Given the description of an element on the screen output the (x, y) to click on. 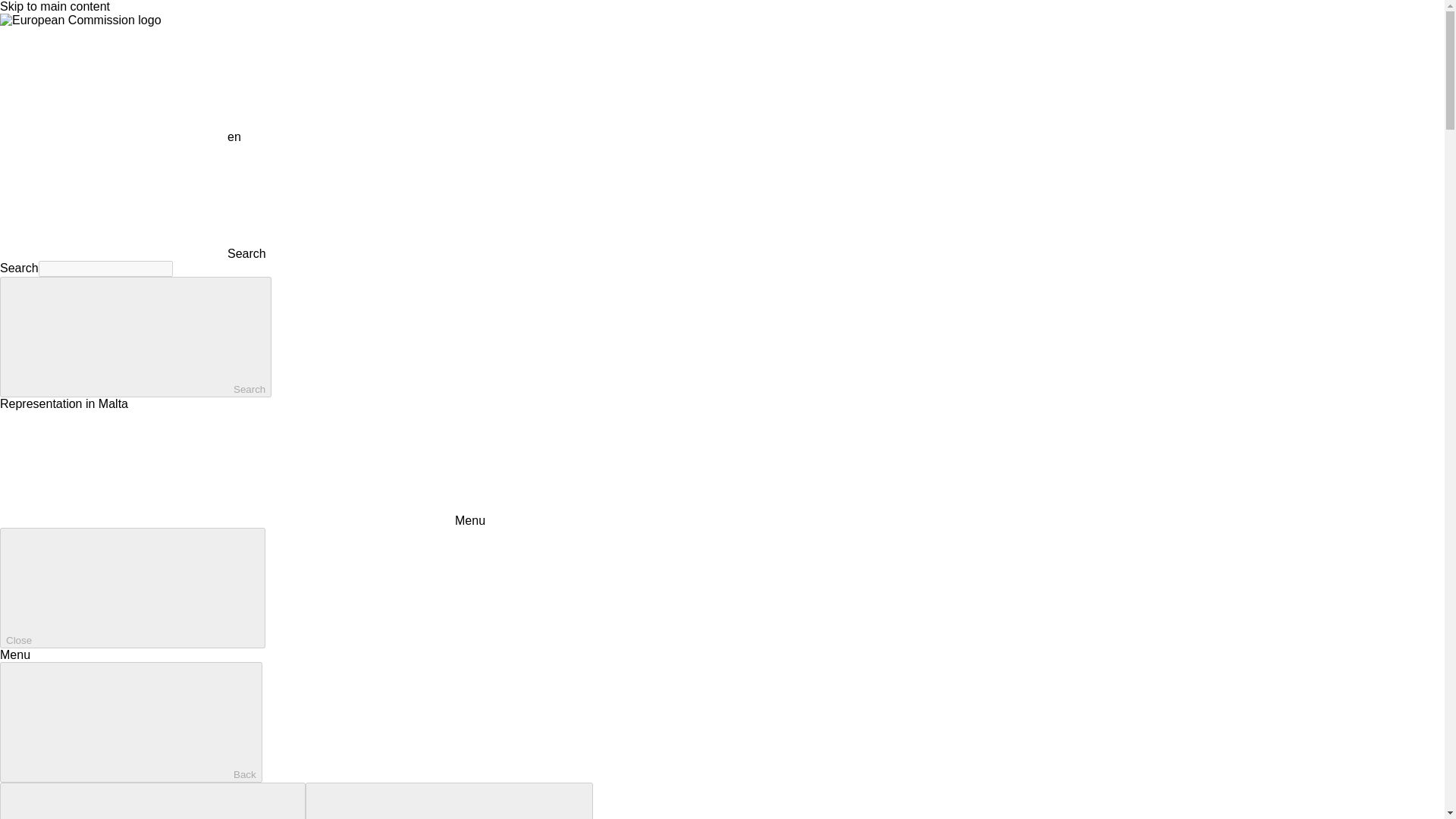
enen (120, 136)
Menu (242, 520)
Next items (448, 800)
Close (132, 587)
en (113, 83)
Previous items (152, 800)
Back (131, 721)
Search (135, 336)
Search (133, 253)
European Commission (80, 19)
Skip to main content (55, 6)
